Given the description of an element on the screen output the (x, y) to click on. 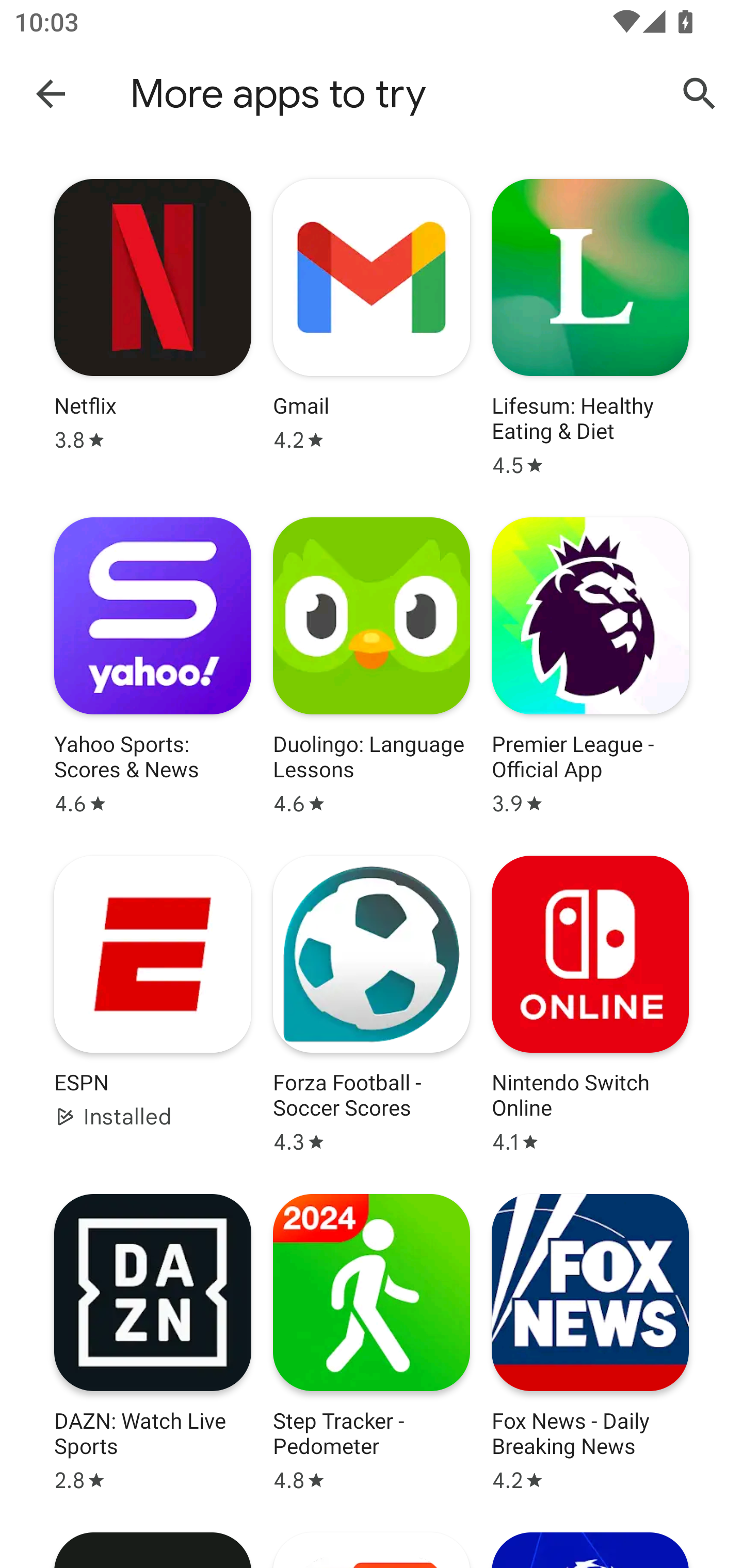
Navigate up (50, 92)
Search Google Play (699, 93)
App: Netflix
Star rating: 3.8


 (152, 328)
App: Gmail
Star rating: 4.2


 (371, 328)
App: ESPN
Installed

 (152, 1003)
App: Nintendo Switch Online
Star rating: 4.1


 (589, 1003)
App: DAZN: Watch Live Sports
Star rating: 2.8


 (152, 1342)
App: Step Tracker - Pedometer
Star rating: 4.8


 (371, 1342)
